Given the description of an element on the screen output the (x, y) to click on. 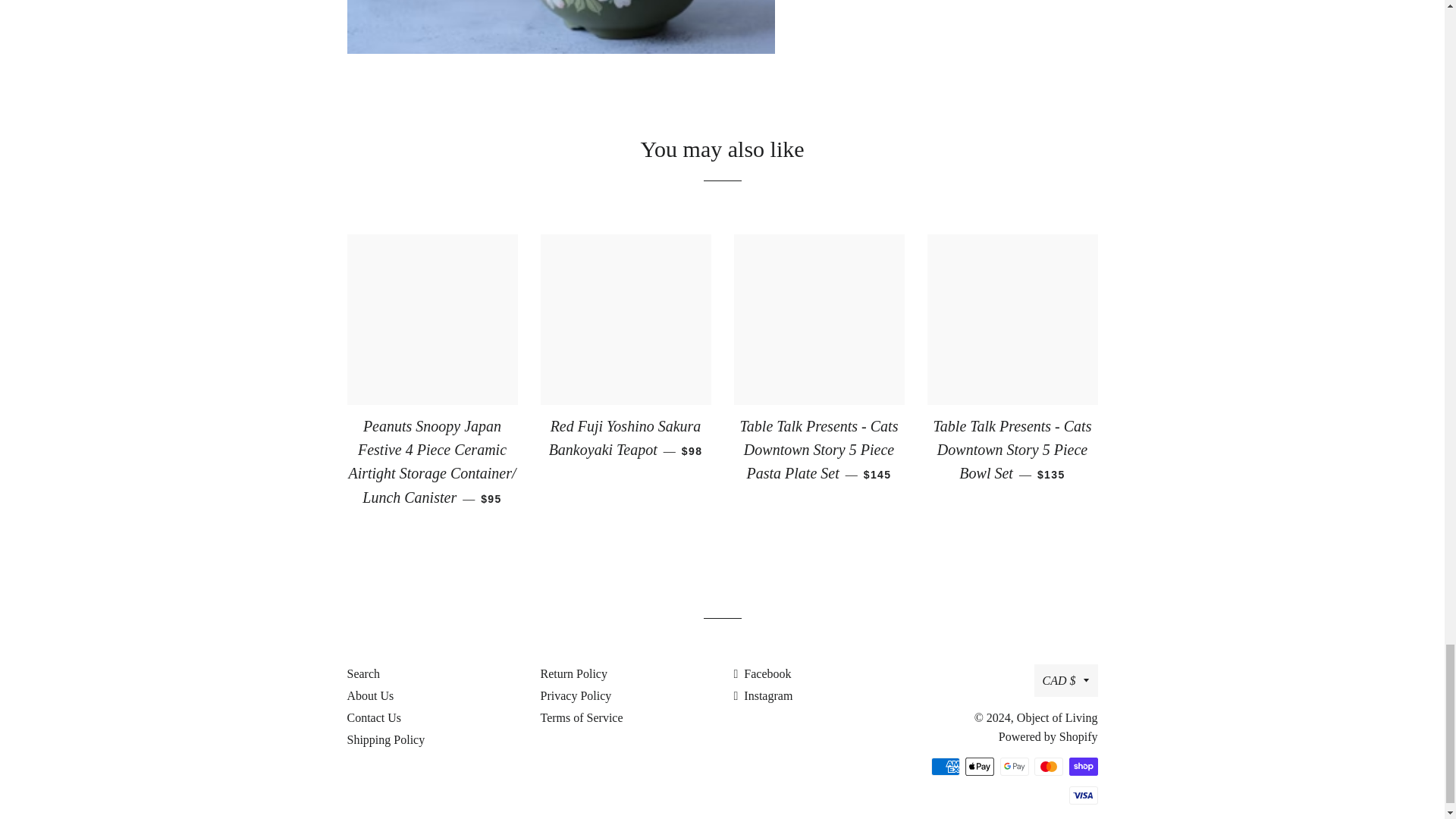
Visa (1082, 795)
Shop Pay (1082, 766)
Google Pay (1012, 766)
Object of Living on Instagram (763, 695)
Mastercard (1047, 766)
Apple Pay (979, 766)
American Express (945, 766)
Object of Living on Facebook (762, 673)
